Given the description of an element on the screen output the (x, y) to click on. 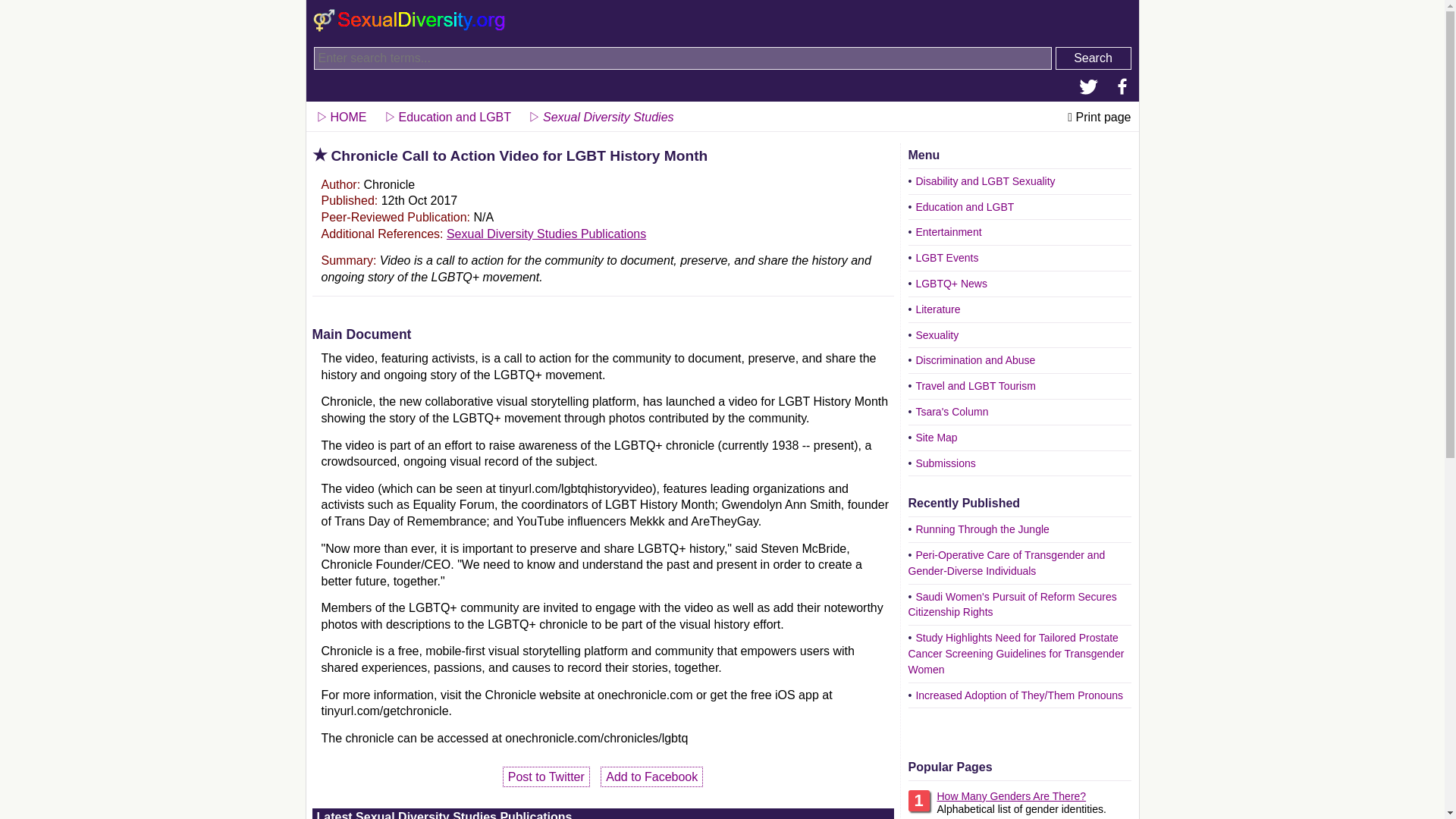
Add to Facebook (651, 776)
Sexual Diversity Studies Publications (546, 233)
Go to Sexual Diversity Studies (599, 113)
Sexual Diversity Studies (599, 113)
Post to Twitter (545, 776)
Go to Education and LGBT (446, 113)
HOME (339, 113)
Education and LGBT (446, 113)
